Given the description of an element on the screen output the (x, y) to click on. 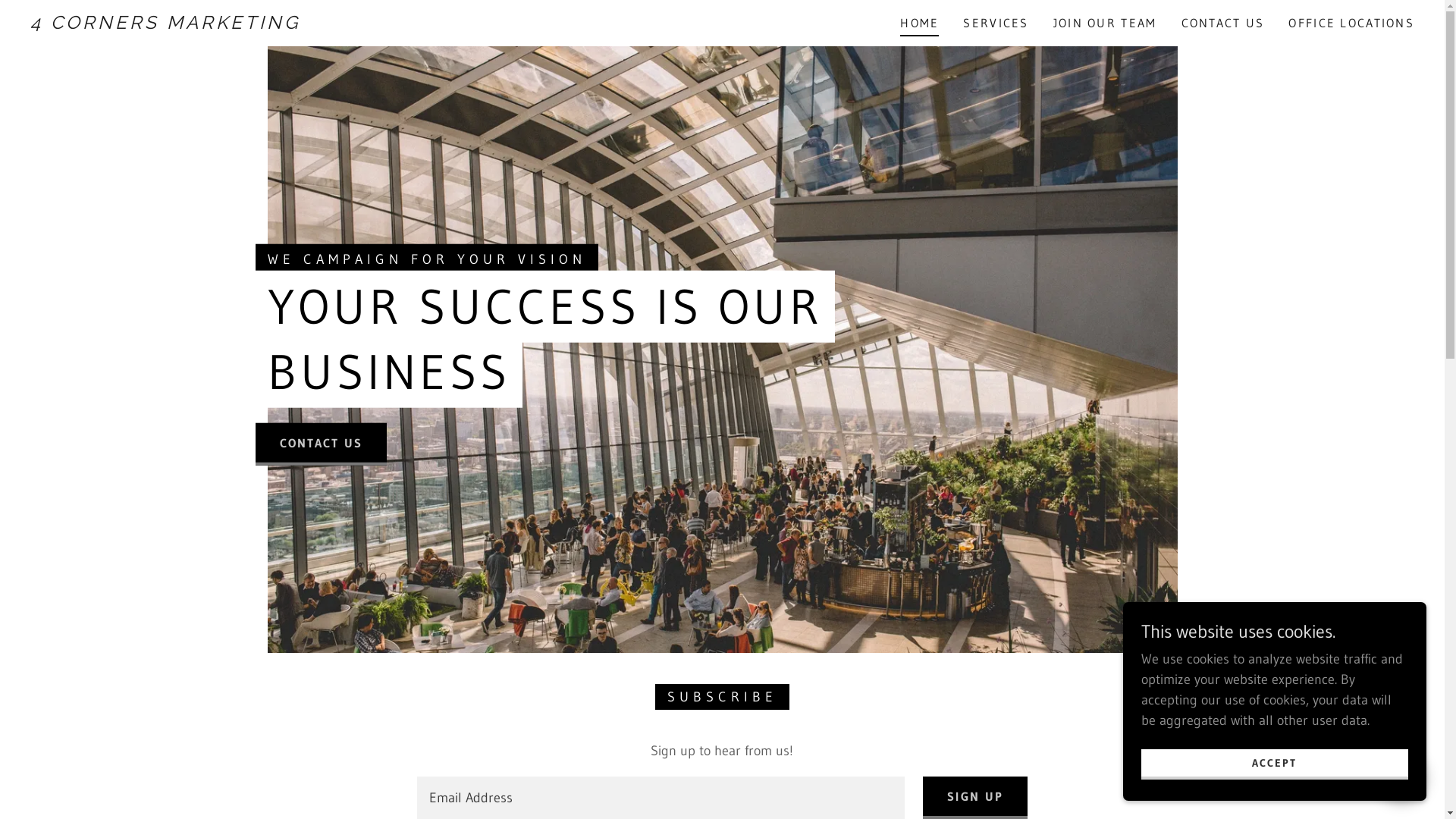
CONTACT US Element type: text (320, 444)
4 CORNERS MARKETING Element type: text (225, 23)
CONTACT US Element type: text (1222, 22)
OFFICE LOCATIONS Element type: text (1350, 22)
HOME Element type: text (919, 24)
SERVICES Element type: text (995, 22)
ACCEPT Element type: text (1274, 764)
JOIN OUR TEAM Element type: text (1104, 22)
